Given the description of an element on the screen output the (x, y) to click on. 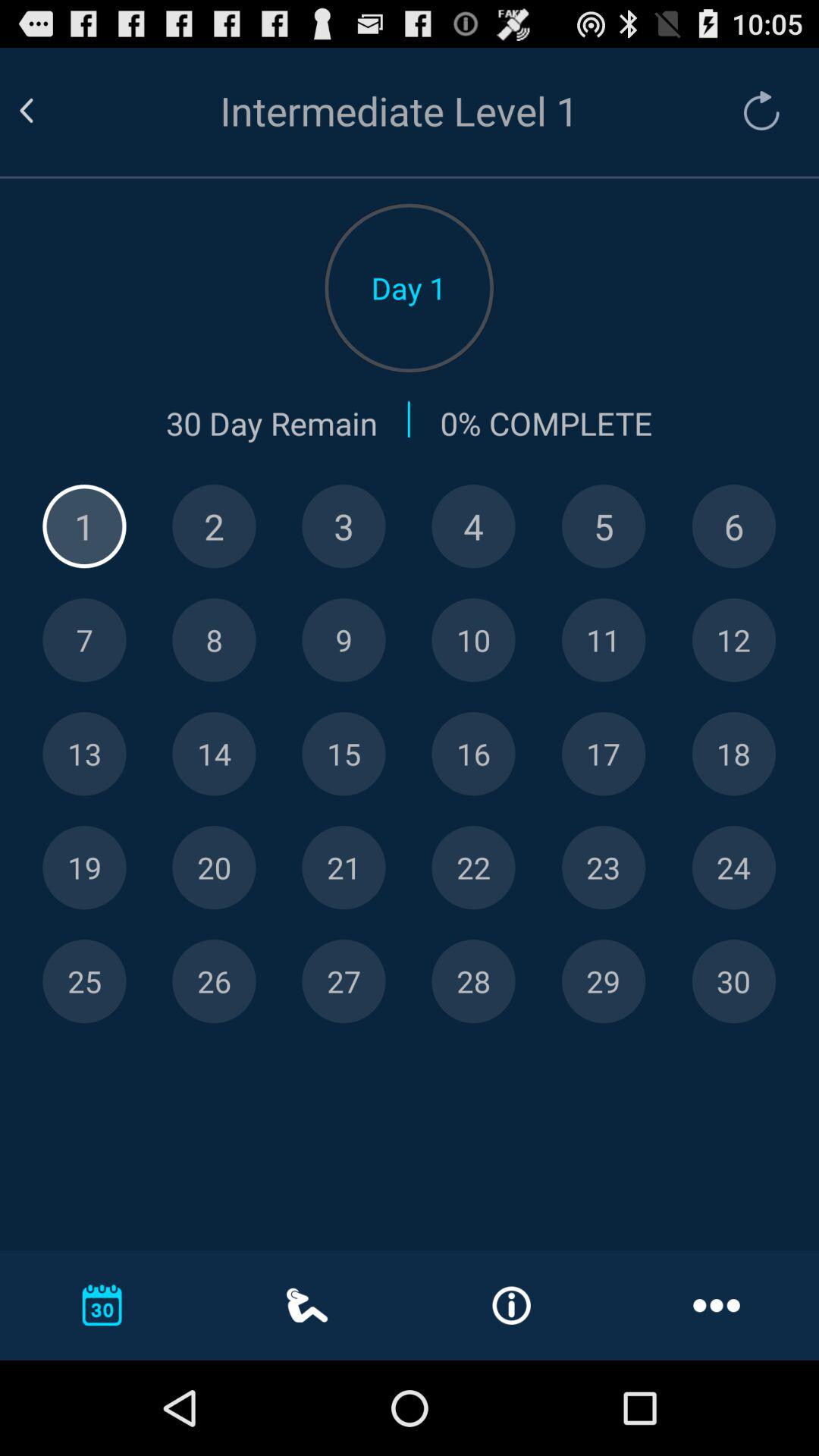
select day 2 (213, 526)
